Given the description of an element on the screen output the (x, y) to click on. 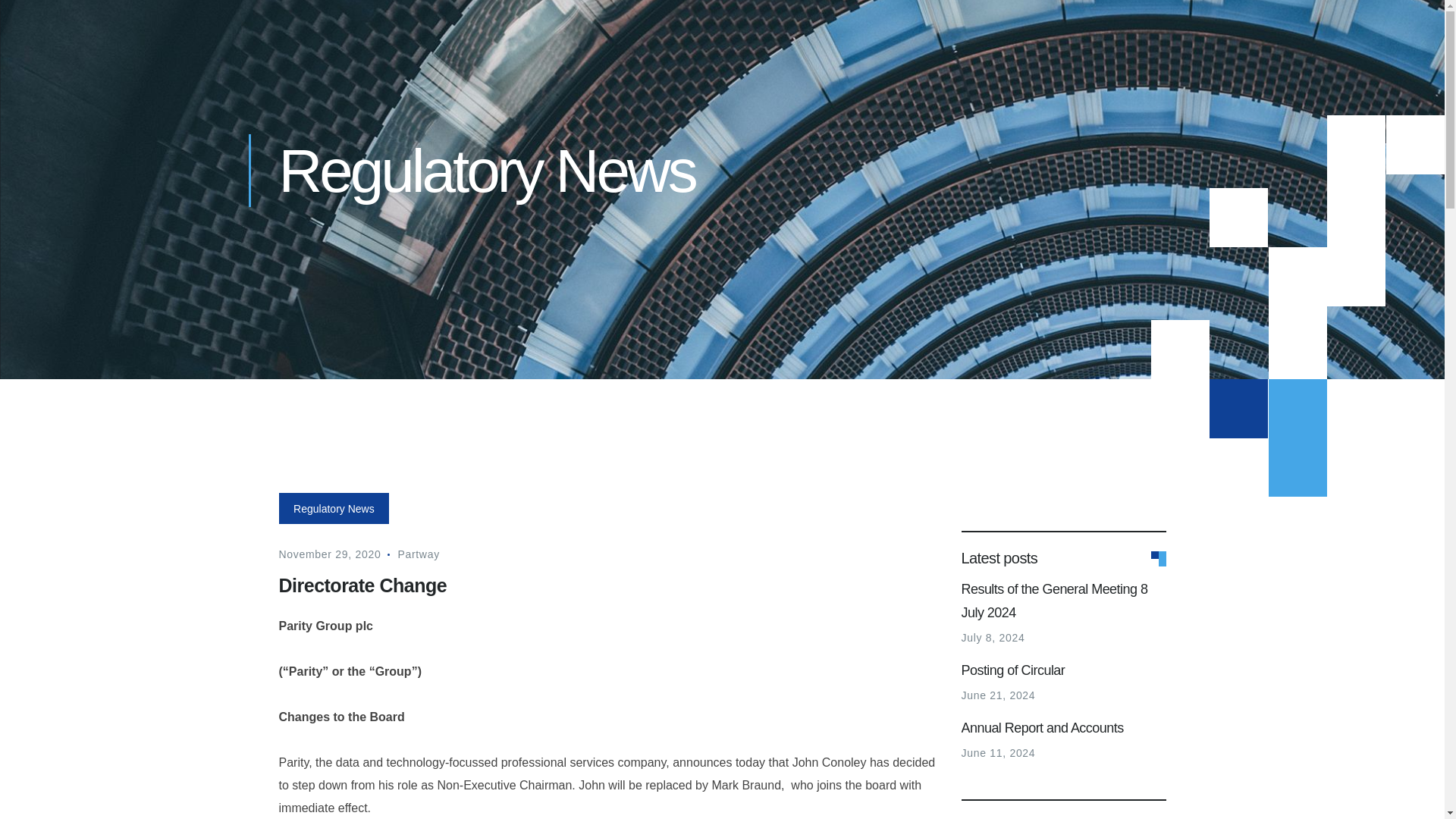
Partway (418, 553)
November 29, 2020 (330, 553)
Regulatory News (334, 508)
